Given the description of an element on the screen output the (x, y) to click on. 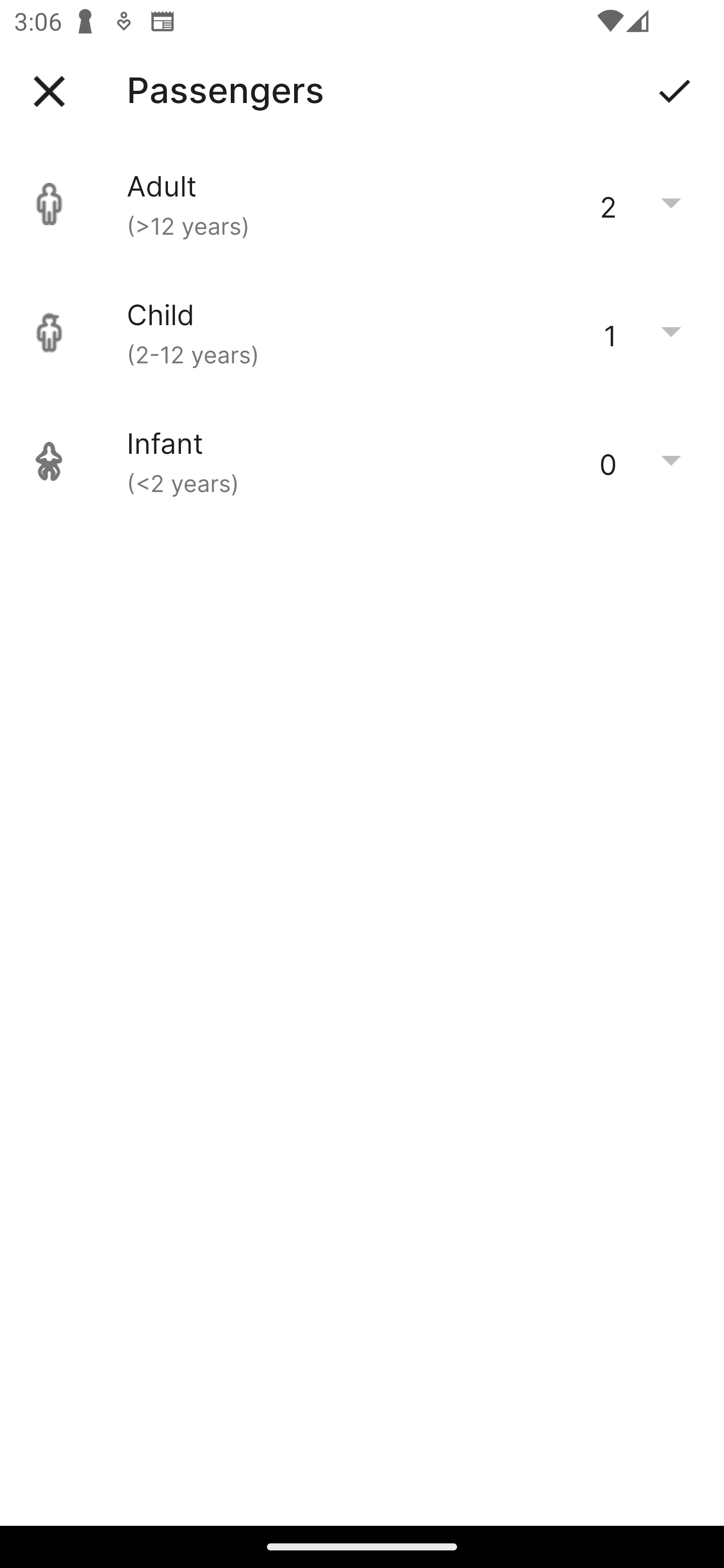
Adult (>12 years) 2 (362, 204)
Child (2-12 years) 1 (362, 332)
Infant (<2 years) 0 (362, 461)
